Given the description of an element on the screen output the (x, y) to click on. 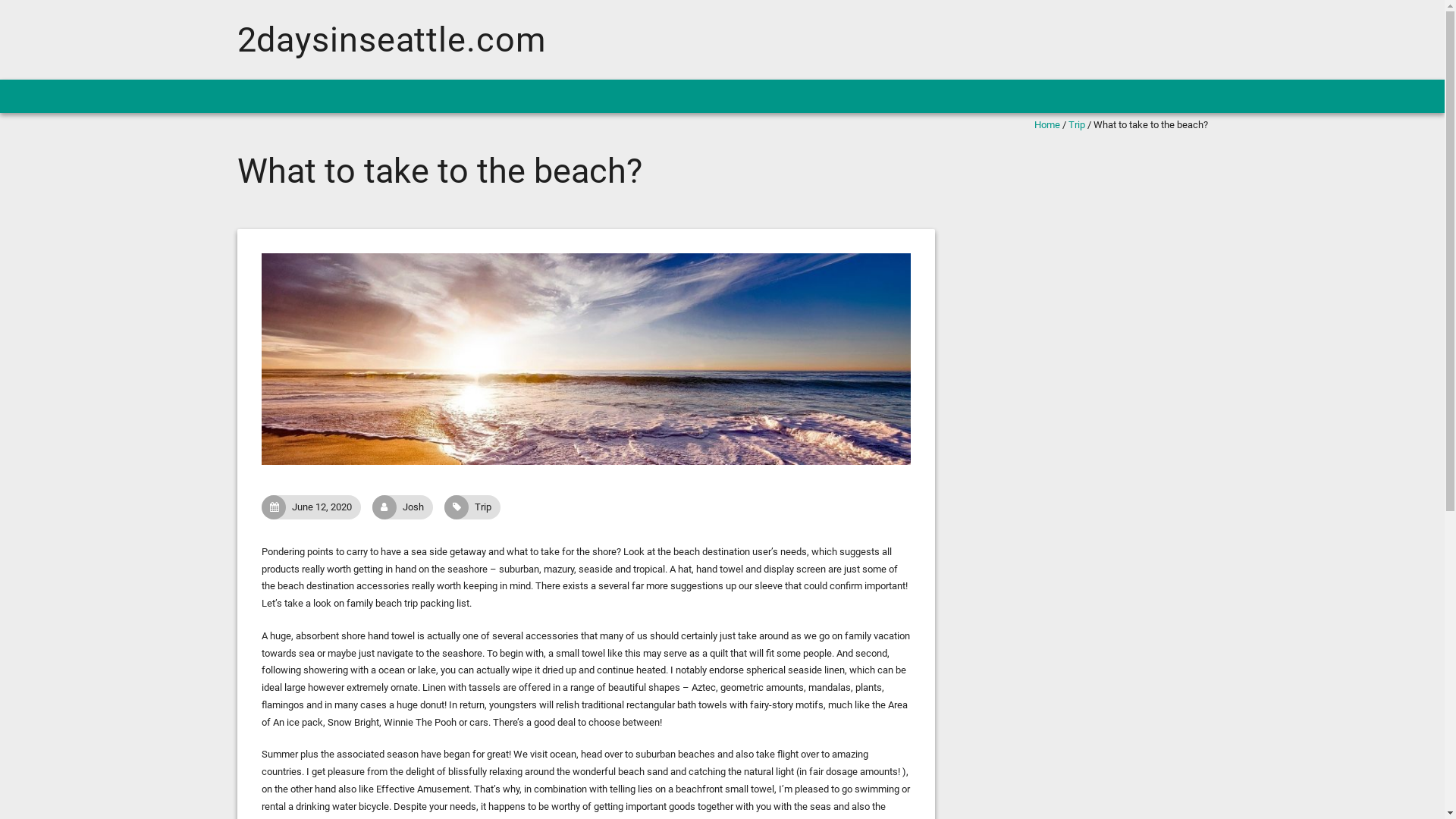
June 12, 2020 Element type: text (329, 507)
2daysinseattle.com Element type: text (390, 39)
Trip Element type: text (491, 507)
Josh Element type: text (421, 507)
Trip Element type: text (1075, 124)
Home Element type: text (1047, 124)
